Given the description of an element on the screen output the (x, y) to click on. 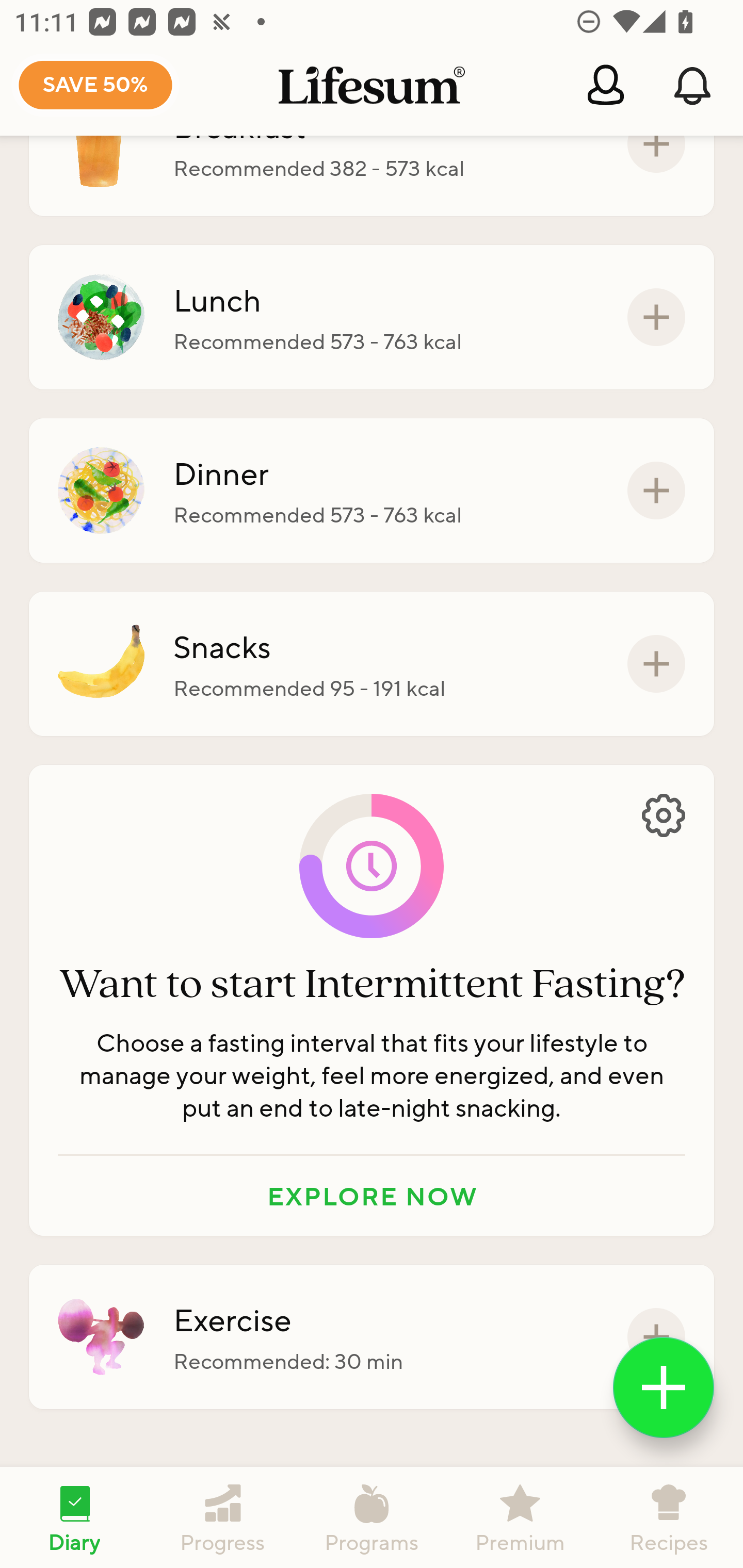
Lunch Recommended 573 - 763 kcal (371, 316)
Dinner Recommended 573 - 763 kcal (371, 490)
Snacks Recommended 95 - 191 kcal (371, 663)
EXPLORE NOW (371, 1195)
Exercise Recommended: 30 min (371, 1337)
Progress (222, 1517)
Programs (371, 1517)
Premium (519, 1517)
Recipes (668, 1517)
